Given the description of an element on the screen output the (x, y) to click on. 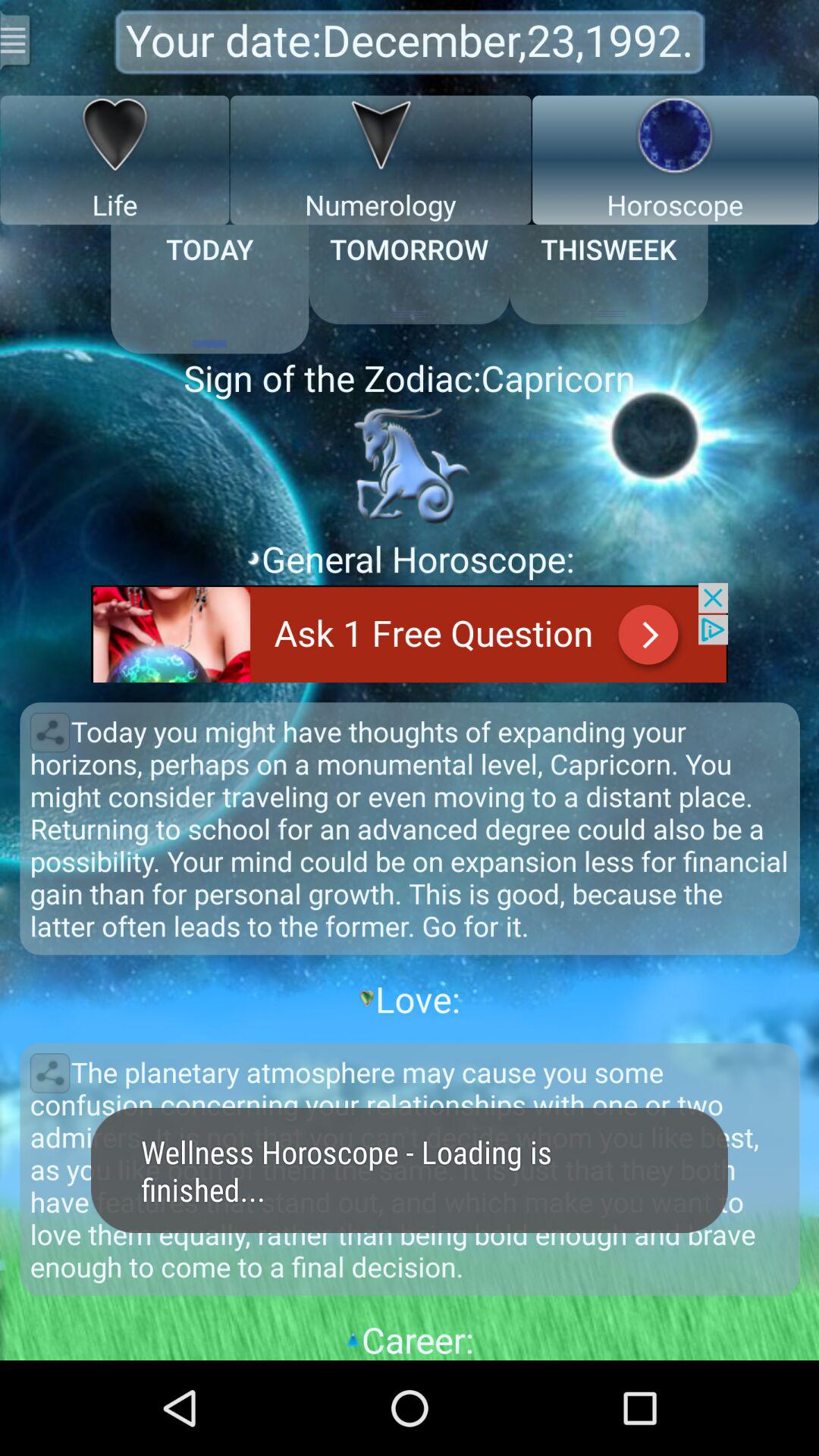
advertisement (409, 632)
